Given the description of an element on the screen output the (x, y) to click on. 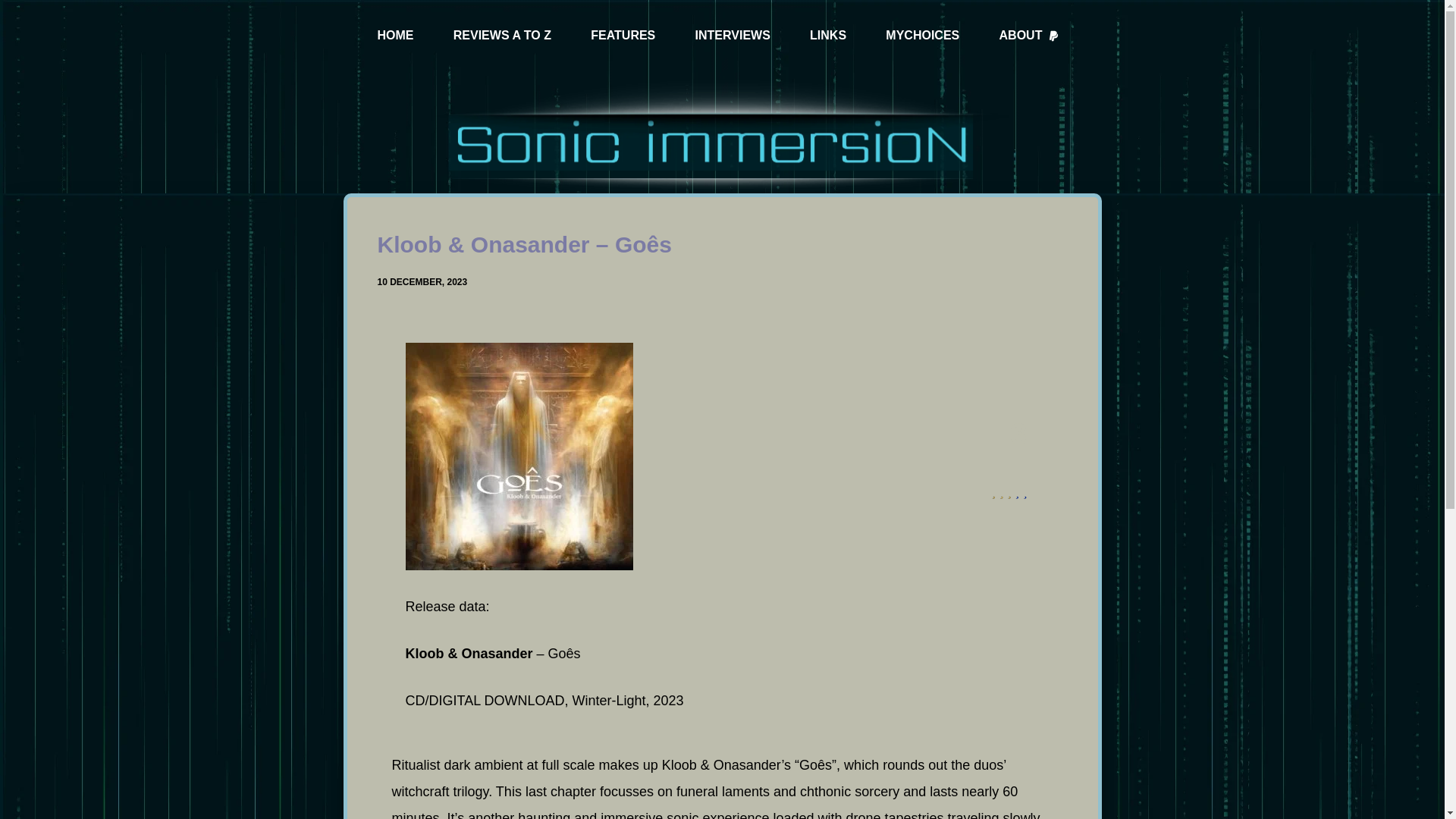
LINKS (827, 36)
INTERVIEWS (732, 36)
CreativeThemes (774, 793)
HOME (395, 36)
REVIEWS A TO Z (502, 36)
Skip to content (15, 7)
FEATURES (622, 36)
ABOUT (1029, 36)
MYCHOICES (921, 36)
